Given the description of an element on the screen output the (x, y) to click on. 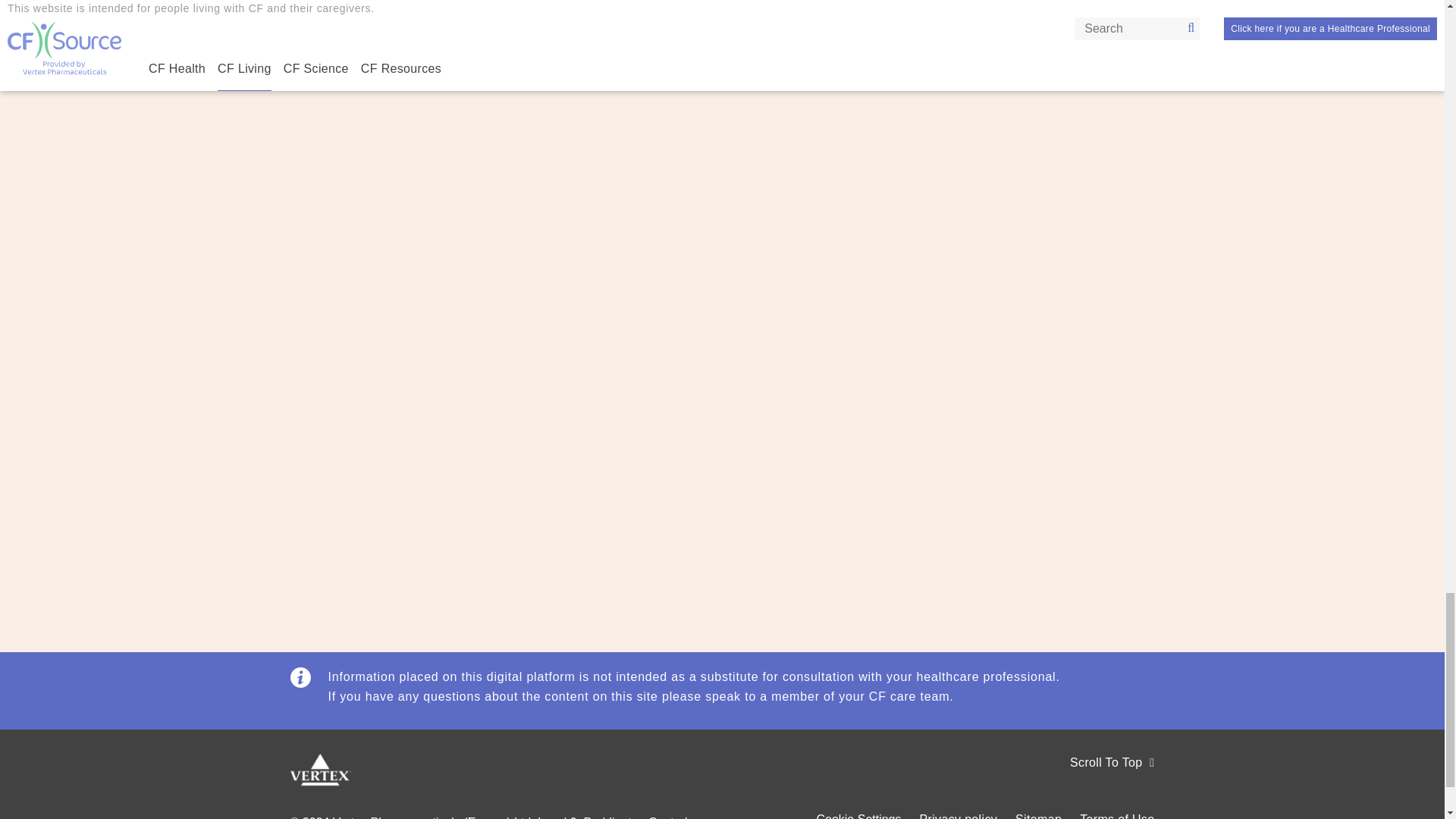
Scroll To Top (943, 781)
Scroll To Top (1112, 762)
